Given the description of an element on the screen output the (x, y) to click on. 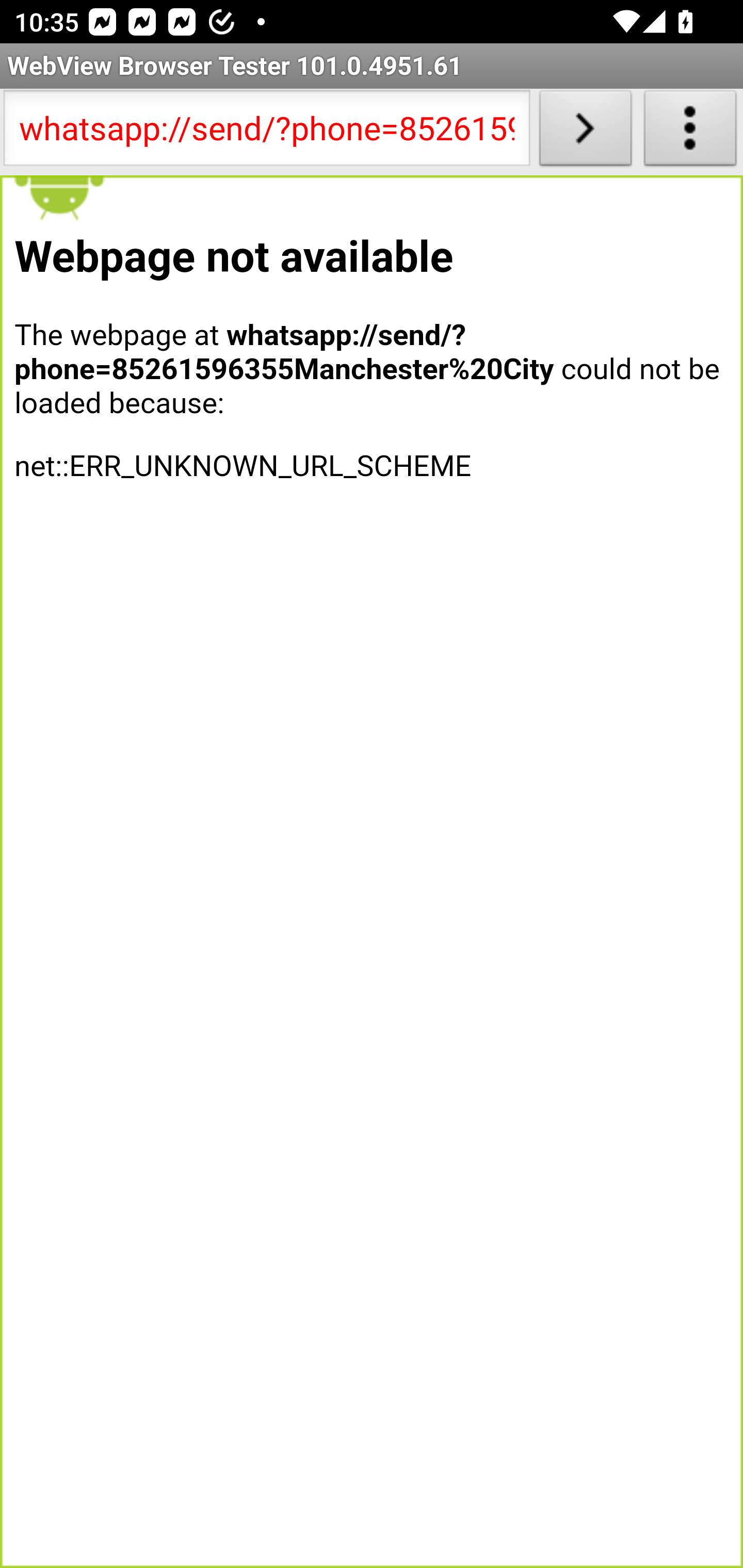
Load URL (585, 132)
About WebView (690, 132)
